Given the description of an element on the screen output the (x, y) to click on. 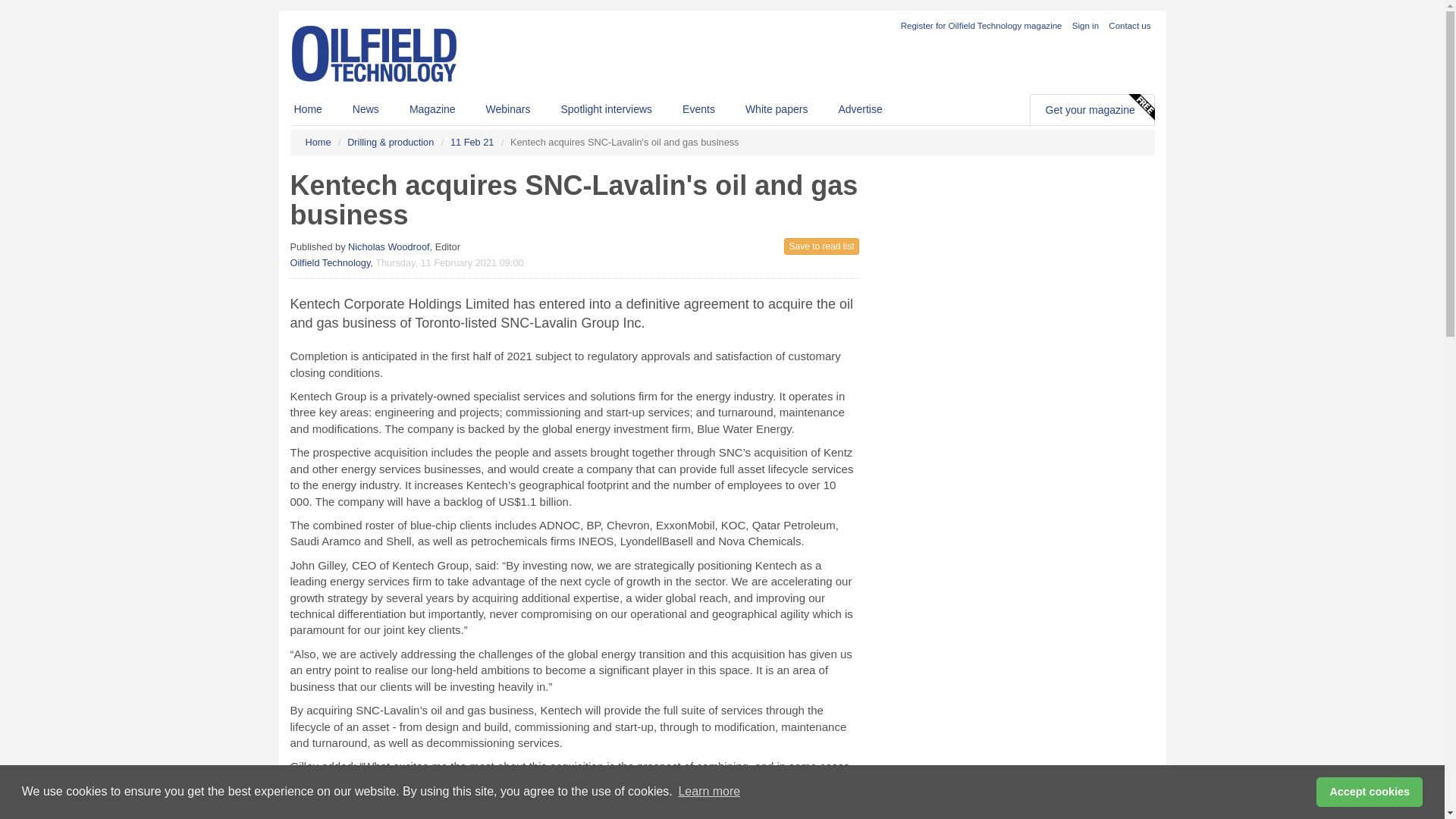
Learn more (708, 791)
Home (317, 142)
News (365, 109)
Webinars (508, 109)
Oilfield Technology (329, 262)
3rd party ad content (1035, 298)
Events (698, 109)
Register for your magazine (981, 25)
Save to read list (821, 246)
Get your magazine (1091, 110)
Register for Oilfield Technology magazine (981, 25)
Contact us (1129, 25)
Magazine (432, 109)
Advertise (859, 109)
Home (308, 109)
